Given the description of an element on the screen output the (x, y) to click on. 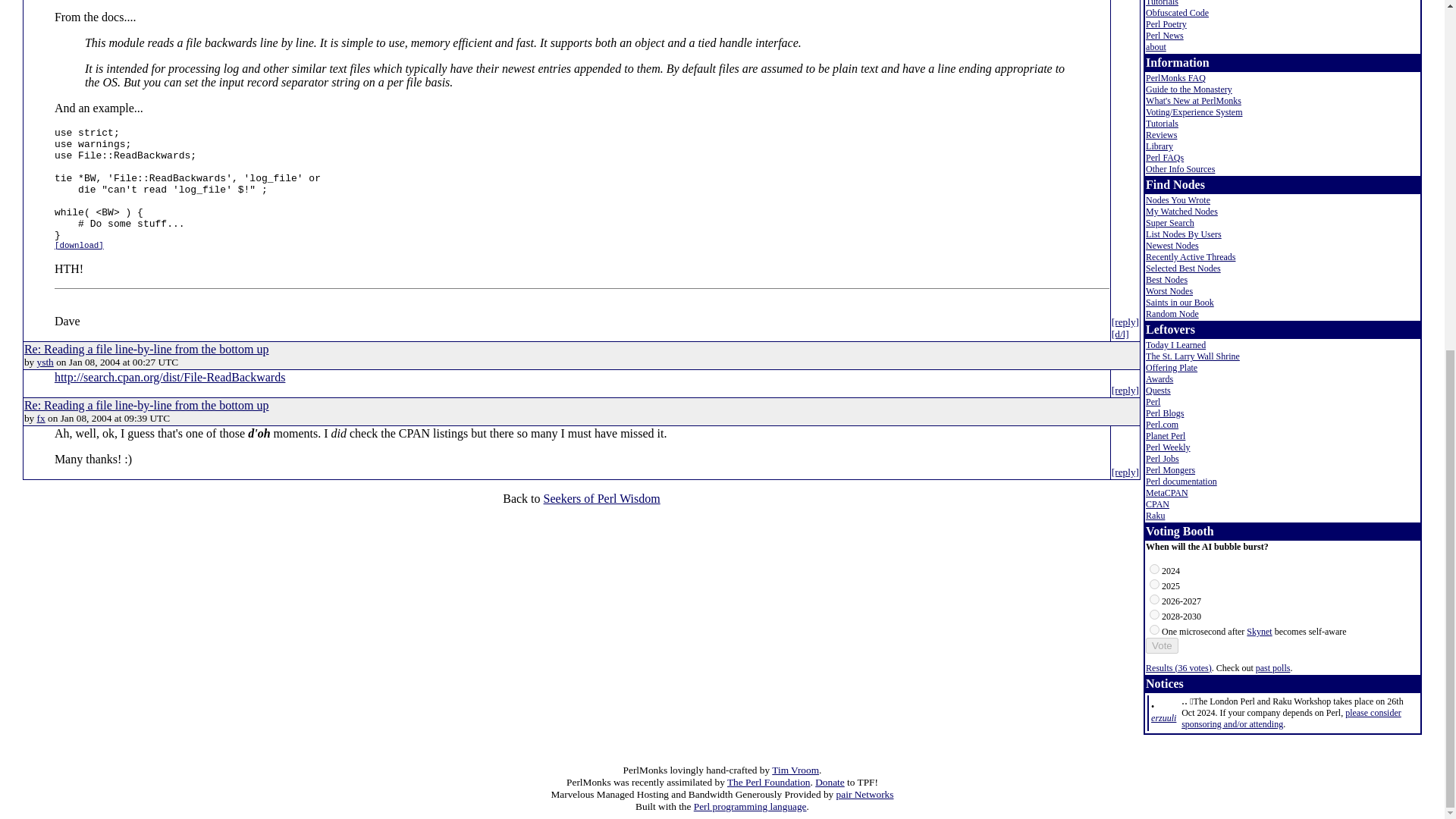
4 (1154, 629)
3 (1154, 614)
2024-05-30 14:23:36 (1163, 717)
Vote (1161, 645)
1 (1154, 583)
0 (1154, 569)
2 (1154, 599)
